Given the description of an element on the screen output the (x, y) to click on. 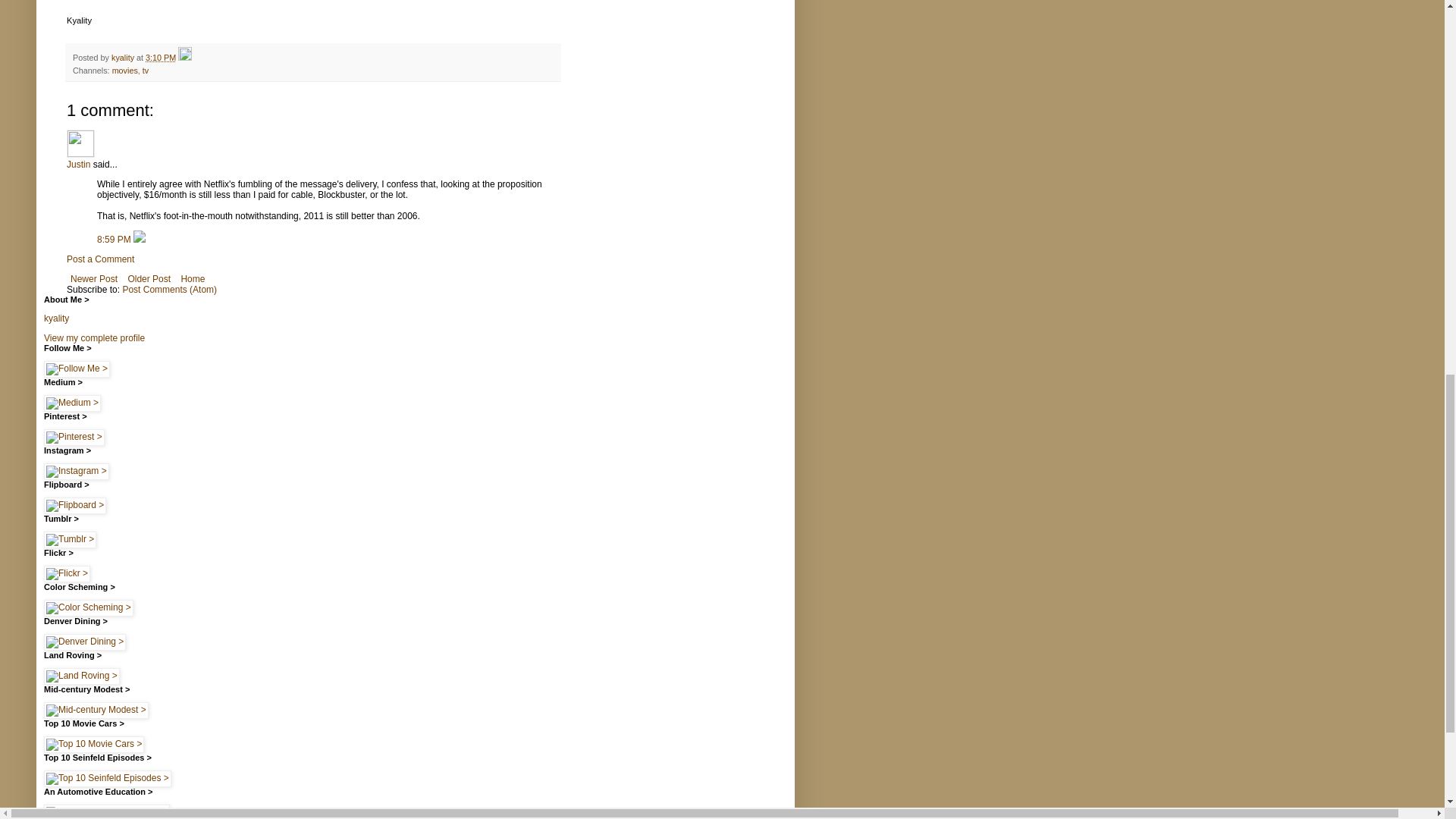
Delete Comment (139, 239)
comment permalink (115, 239)
Justin (80, 143)
movies (125, 70)
kyality (55, 317)
Newer Post (93, 279)
Newer Post (93, 279)
Post a Comment (99, 258)
author profile (124, 57)
Edit Post (184, 57)
permanent link (160, 57)
Older Post (148, 279)
Justin (78, 163)
kyality (124, 57)
Older Post (148, 279)
